Given the description of an element on the screen output the (x, y) to click on. 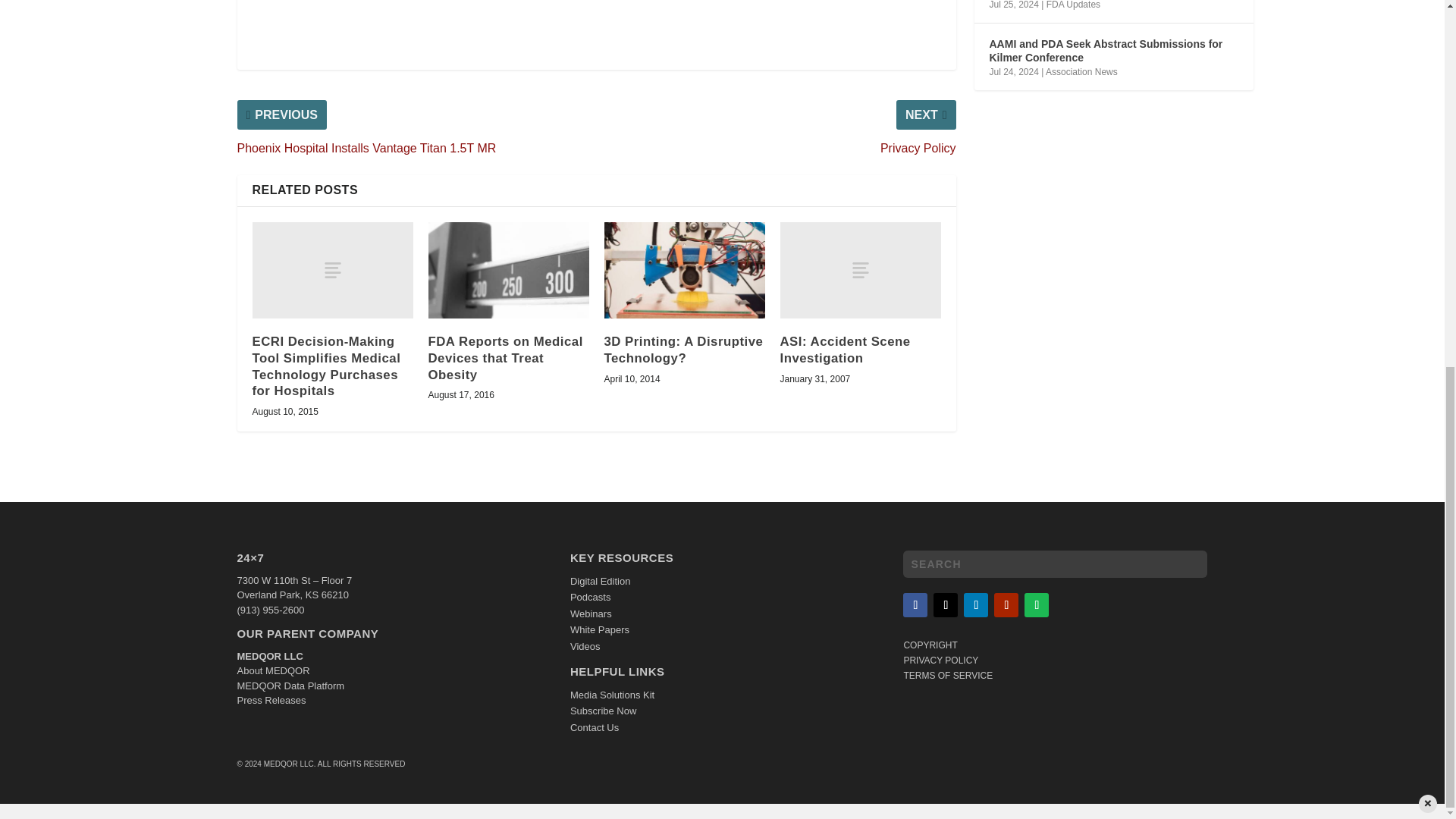
FDA Reports on Medical Devices that Treat Obesity (508, 269)
3rd party ad content (596, 27)
